Given the description of an element on the screen output the (x, y) to click on. 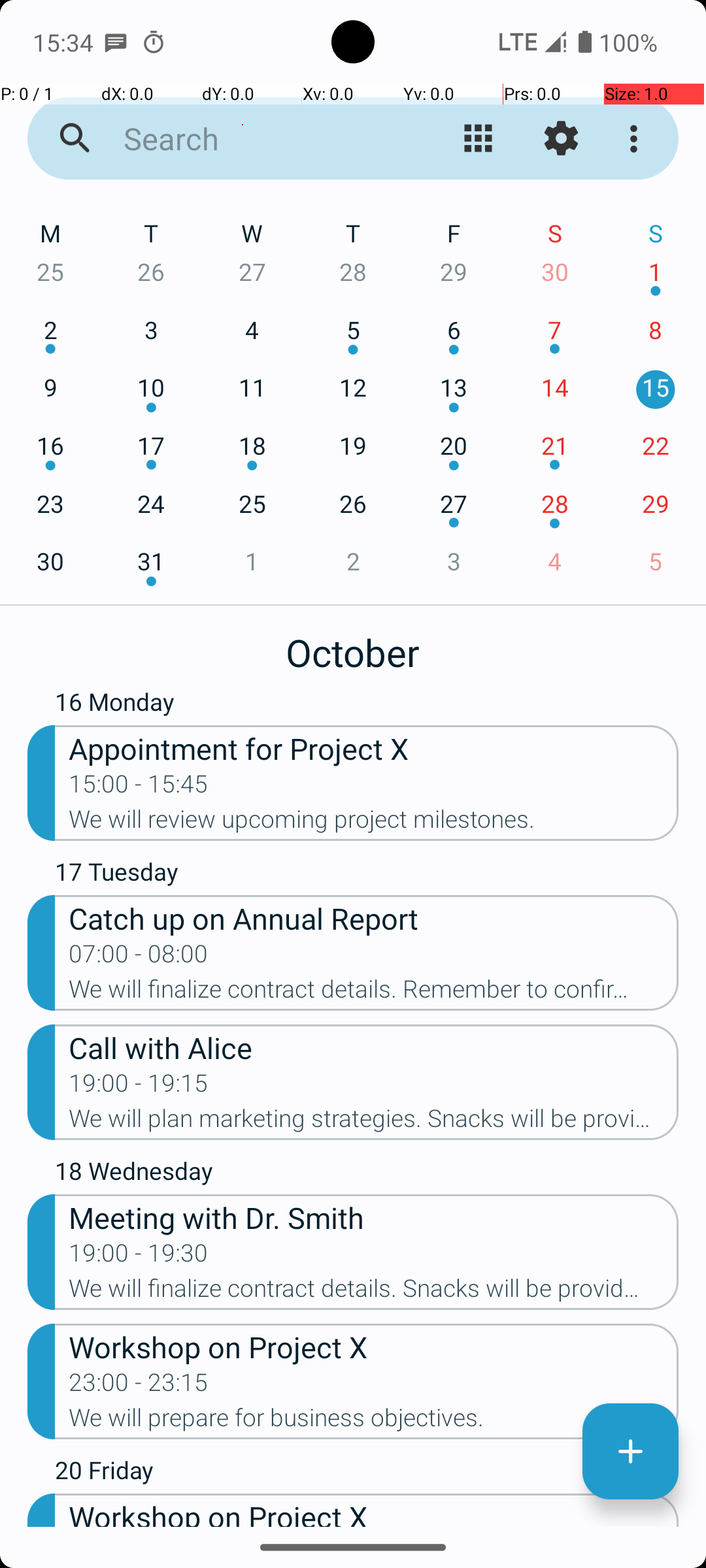
17 Tuesday Element type: android.widget.TextView (366, 874)
18 Wednesday Element type: android.widget.TextView (366, 1173)
20 Friday Element type: android.widget.TextView (366, 1473)
15:00 - 15:45 Element type: android.widget.TextView (137, 787)
We will review upcoming project milestones. Element type: android.widget.TextView (373, 822)
07:00 - 08:00 Element type: android.widget.TextView (137, 957)
We will finalize contract details. Remember to confirm attendance. Element type: android.widget.TextView (373, 992)
Call with Alice Element type: android.widget.TextView (373, 1046)
19:00 - 19:15 Element type: android.widget.TextView (137, 1086)
We will plan marketing strategies. Snacks will be provided. Element type: android.widget.TextView (373, 1122)
Meeting with Dr. Smith Element type: android.widget.TextView (373, 1216)
19:00 - 19:30 Element type: android.widget.TextView (137, 1256)
We will finalize contract details. Snacks will be provided. Element type: android.widget.TextView (373, 1291)
Workshop on Project X Element type: android.widget.TextView (373, 1345)
23:00 - 23:15 Element type: android.widget.TextView (137, 1386)
We will prepare for business objectives. Element type: android.widget.TextView (373, 1421)
SMS Messenger notification: +15785288010 Element type: android.widget.ImageView (115, 41)
